Given the description of an element on the screen output the (x, y) to click on. 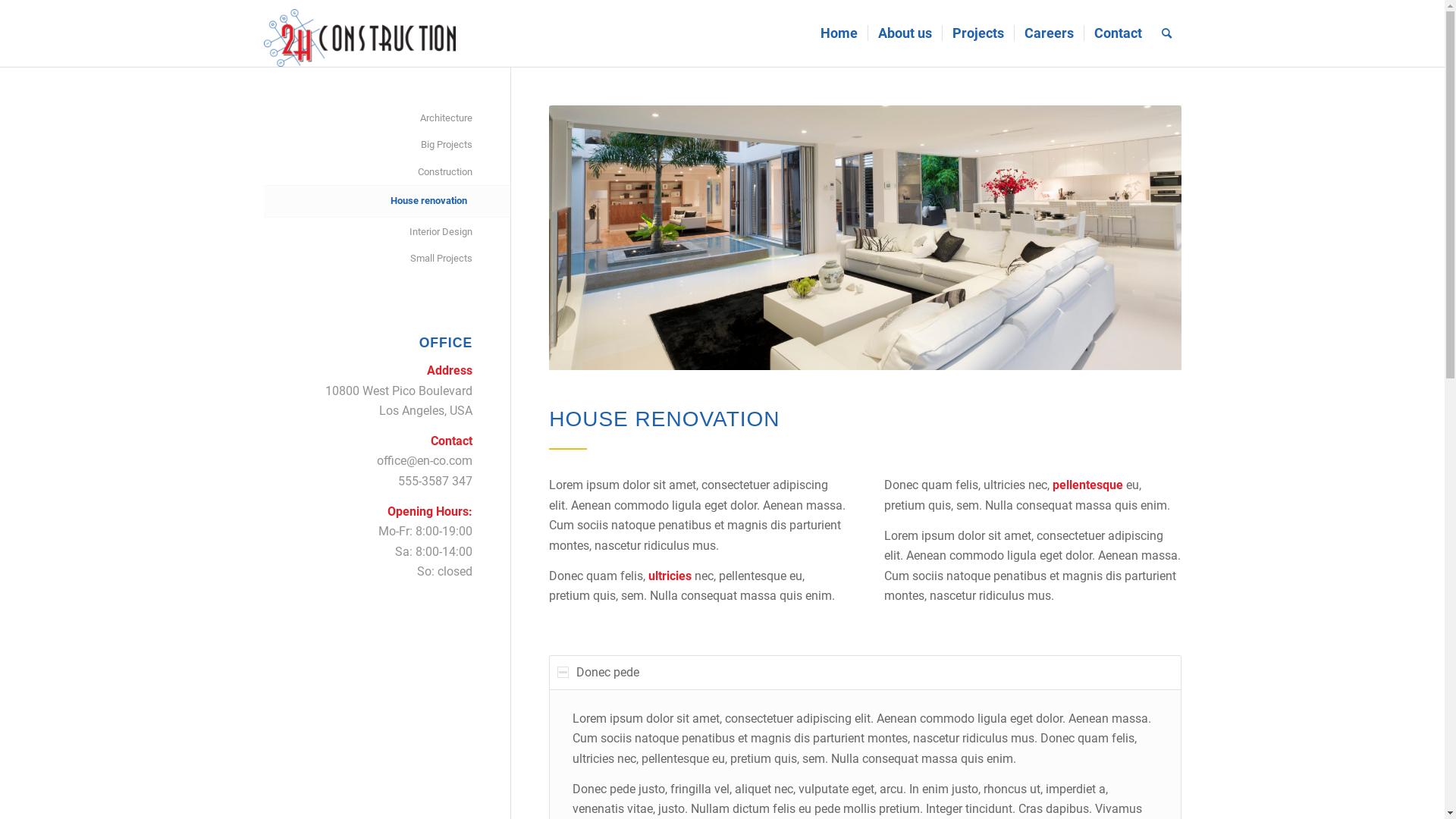
House interior Element type: hover (864, 237)
Architecture Element type: text (368, 118)
Contact Element type: text (1116, 33)
Construction Element type: text (368, 172)
Home Element type: text (837, 33)
Small Projects Element type: text (368, 258)
About us Element type: text (904, 33)
Projects Element type: text (977, 33)
Careers Element type: text (1047, 33)
House renovation Element type: text (368, 201)
Big Projects Element type: text (368, 144)
Interior Design Element type: text (368, 232)
